Given the description of an element on the screen output the (x, y) to click on. 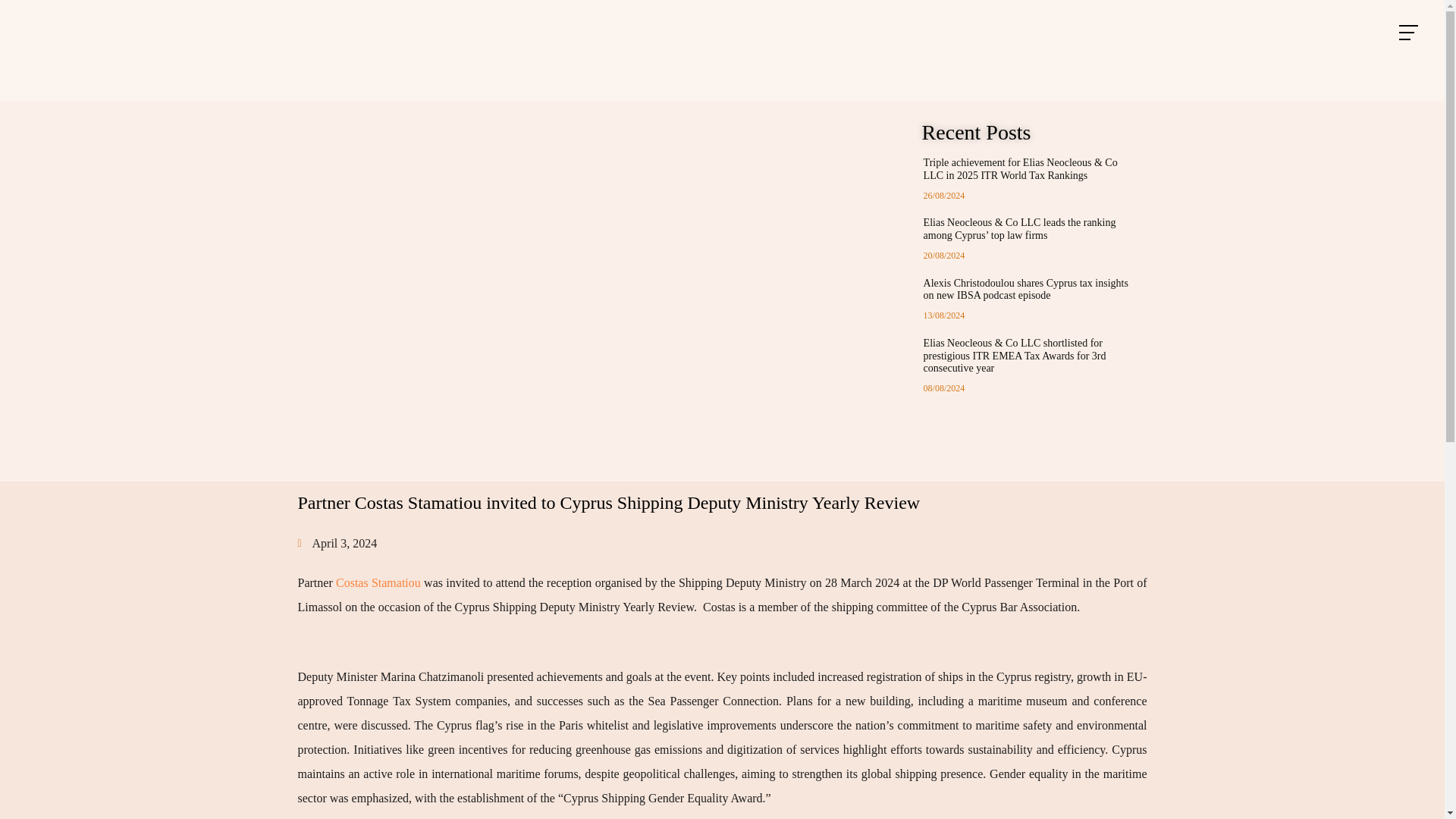
Costas Stamatiou (378, 582)
April 3, 2024 (337, 543)
